Given the description of an element on the screen output the (x, y) to click on. 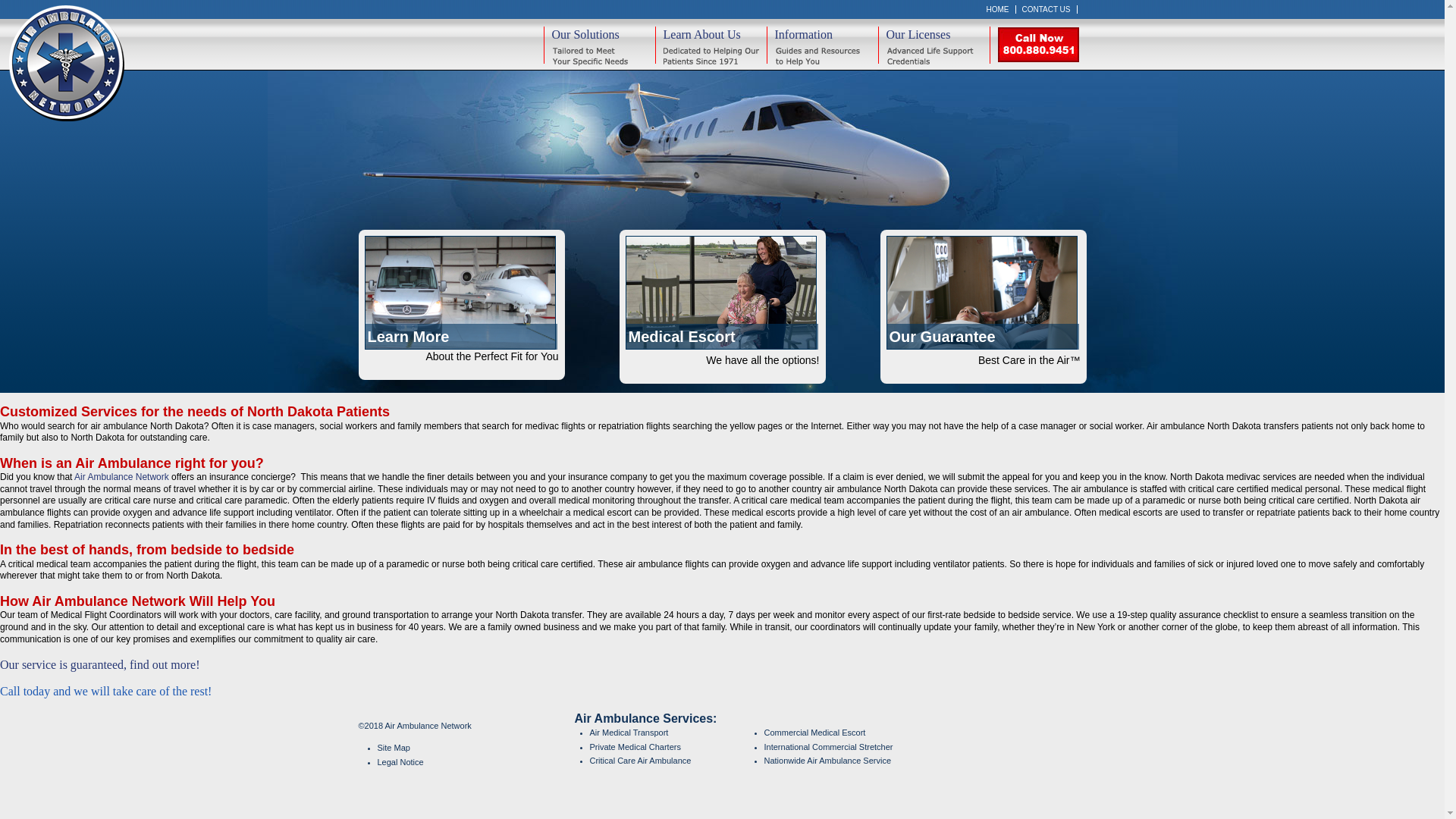
Legal Notice (476, 762)
Our Licenses (933, 44)
Medical Escort (721, 292)
CONTACT US (1046, 8)
Learn More (460, 292)
HOME (997, 8)
Our service is guaranteed, find out more! (99, 664)
Learn About Us (711, 44)
Information (821, 44)
Air Ambulance Network (121, 476)
Site Map (476, 748)
Our Guarantee (982, 292)
Our Solutions (598, 44)
